Given the description of an element on the screen output the (x, y) to click on. 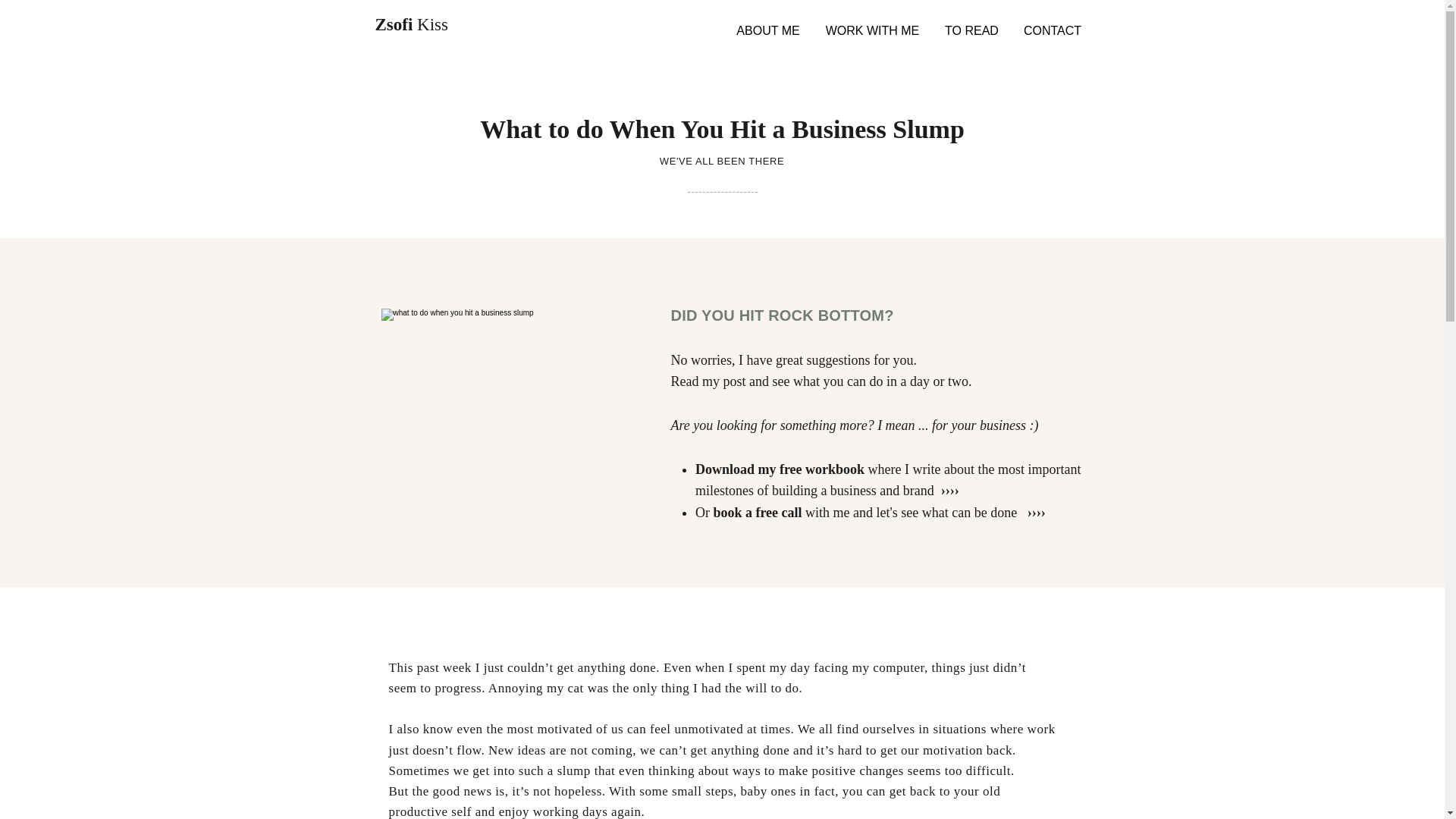
ABOUT ME (767, 30)
TO READ (972, 30)
Download my free workbook (779, 468)
CONTACT (1052, 30)
Zsofi Kiss (411, 24)
WORK WITH ME (872, 30)
book a free call (757, 512)
